Given the description of an element on the screen output the (x, y) to click on. 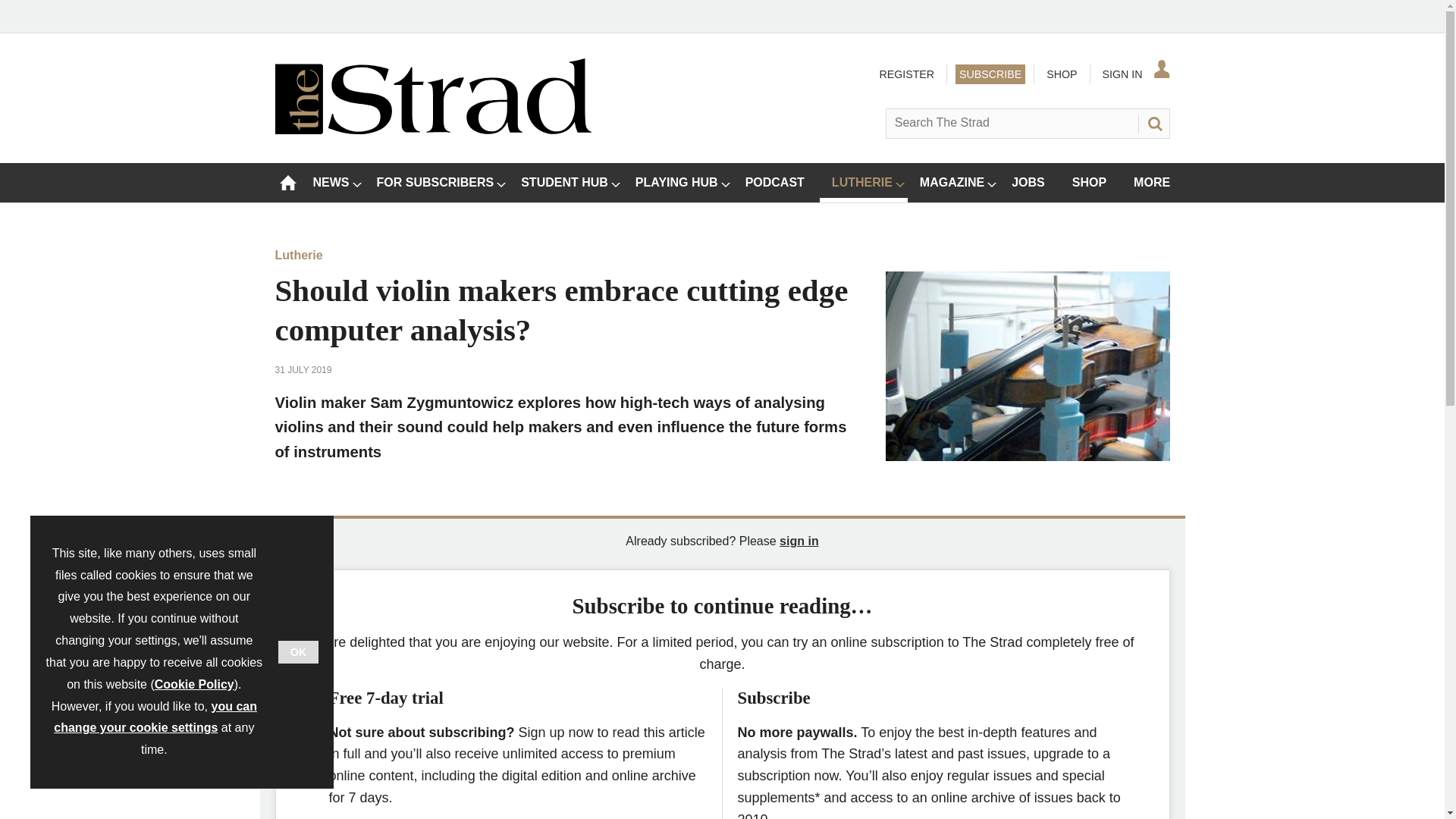
SHOP (1061, 74)
SIGN IN (1134, 74)
Cookie Policy (194, 684)
you can change your cookie settings (155, 717)
OK (298, 651)
SEARCH (1153, 123)
SUBSCRIBE (990, 74)
REGISTER (906, 74)
Insert Logo text (433, 129)
